Given the description of an element on the screen output the (x, y) to click on. 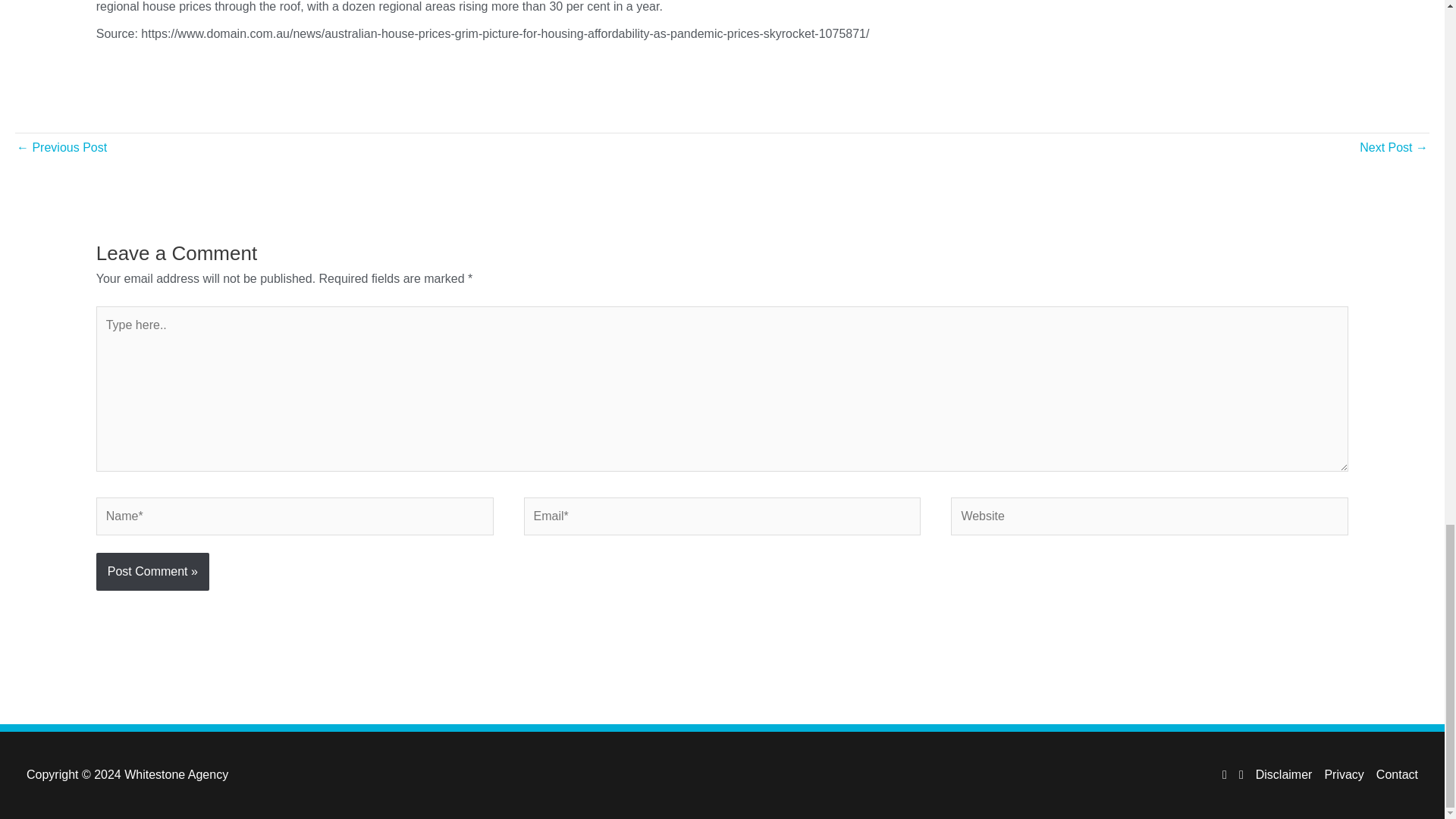
Disclaimer (1278, 774)
Contact (1391, 774)
6 Easy Steps to Increase Your Property's Value (61, 148)
Privacy (1336, 774)
What is negative gearing? (1393, 148)
